Given the description of an element on the screen output the (x, y) to click on. 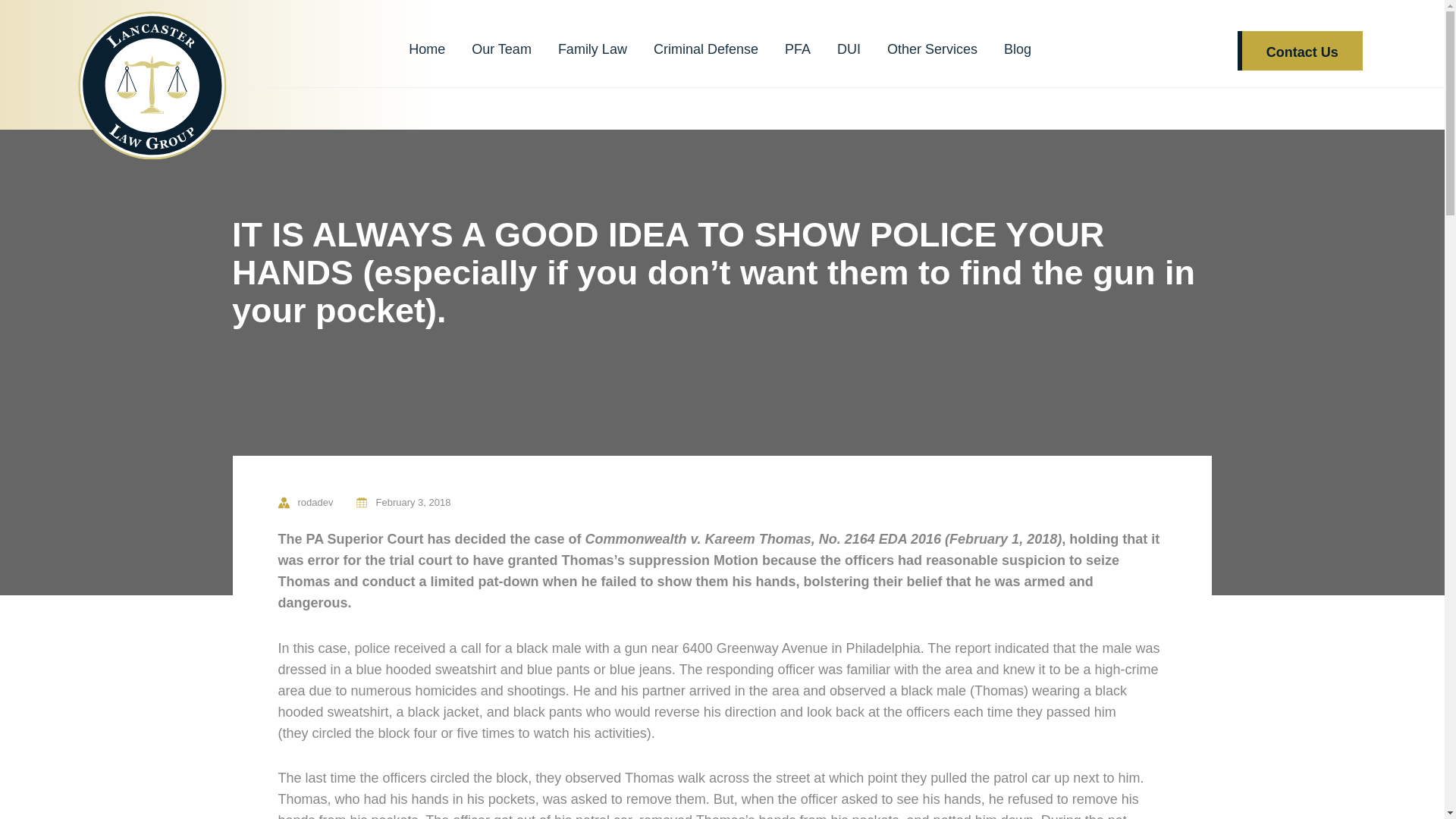
DUI (848, 48)
Blog (1017, 48)
Home (427, 48)
Our Team (501, 48)
Other Services (931, 48)
Family Law (592, 48)
Criminal Defense (705, 48)
PFA (797, 48)
